Given the description of an element on the screen output the (x, y) to click on. 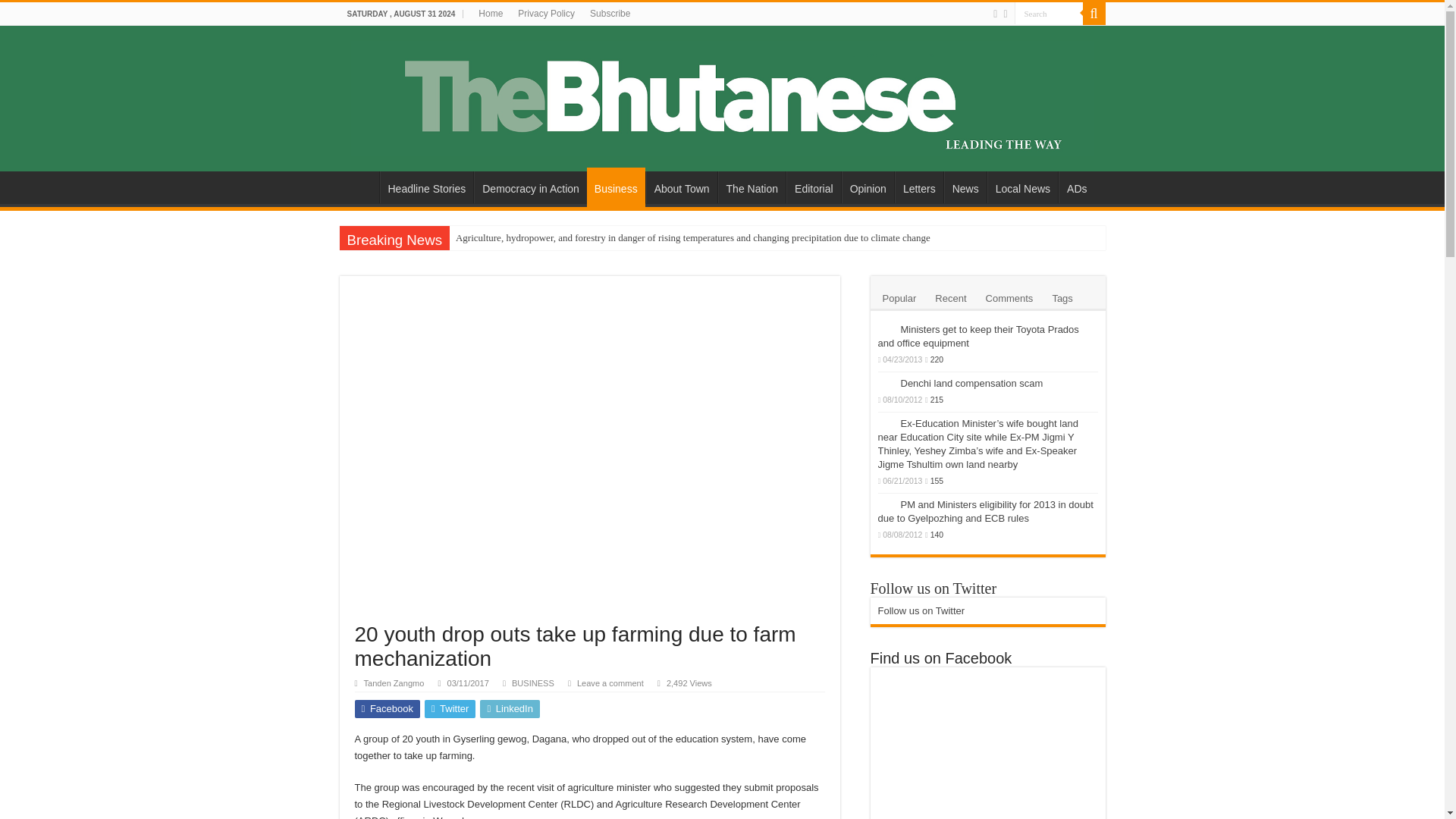
Editorial (813, 187)
The Nation (751, 187)
ADs (1076, 187)
News (965, 187)
About Town (681, 187)
Leave a comment (609, 682)
HOME (358, 187)
Local News (1022, 187)
Facebook (387, 709)
